Given the description of an element on the screen output the (x, y) to click on. 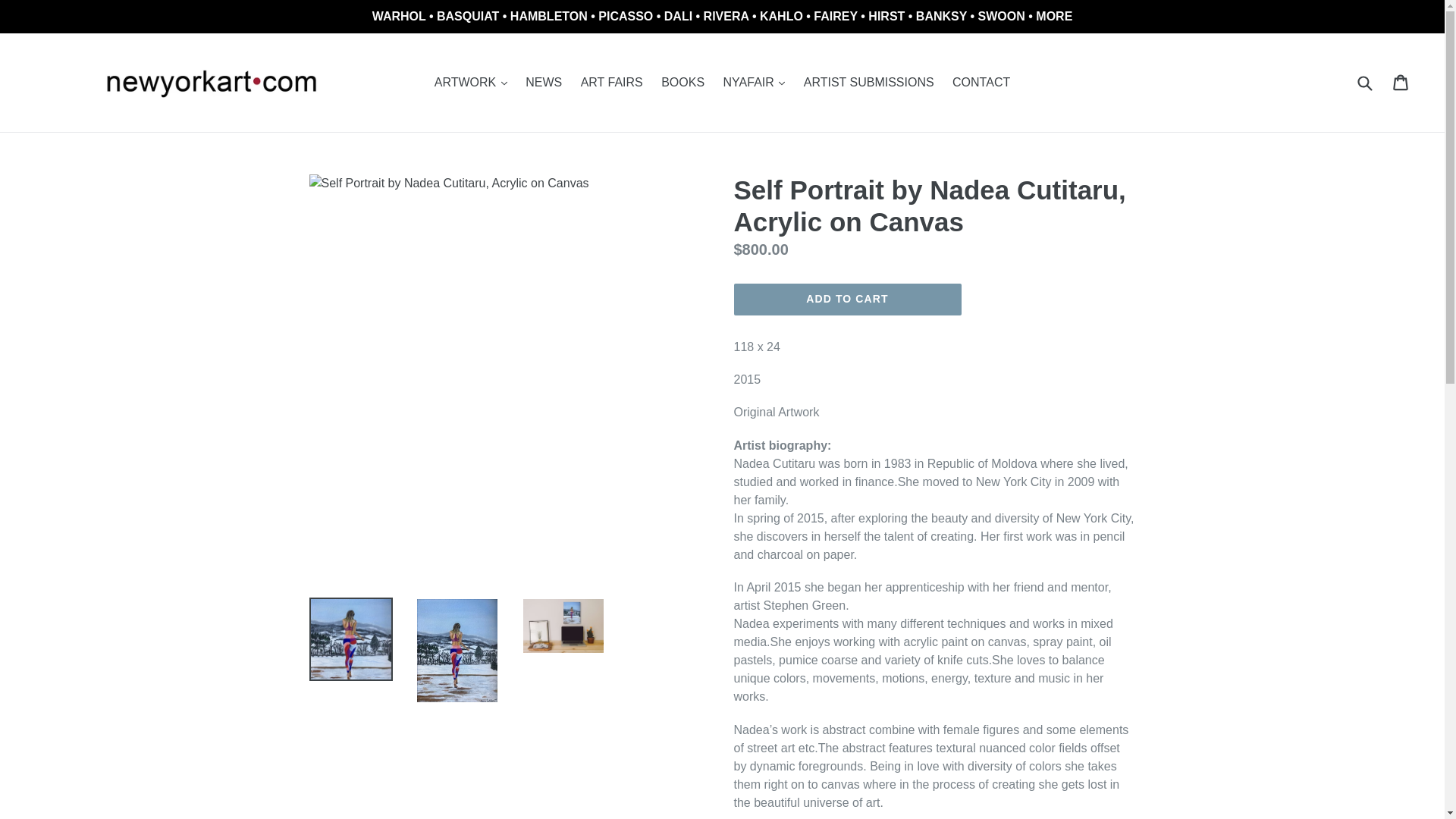
BOOKS (682, 82)
ART FAIRS (611, 82)
NEWS (543, 82)
